Given the description of an element on the screen output the (x, y) to click on. 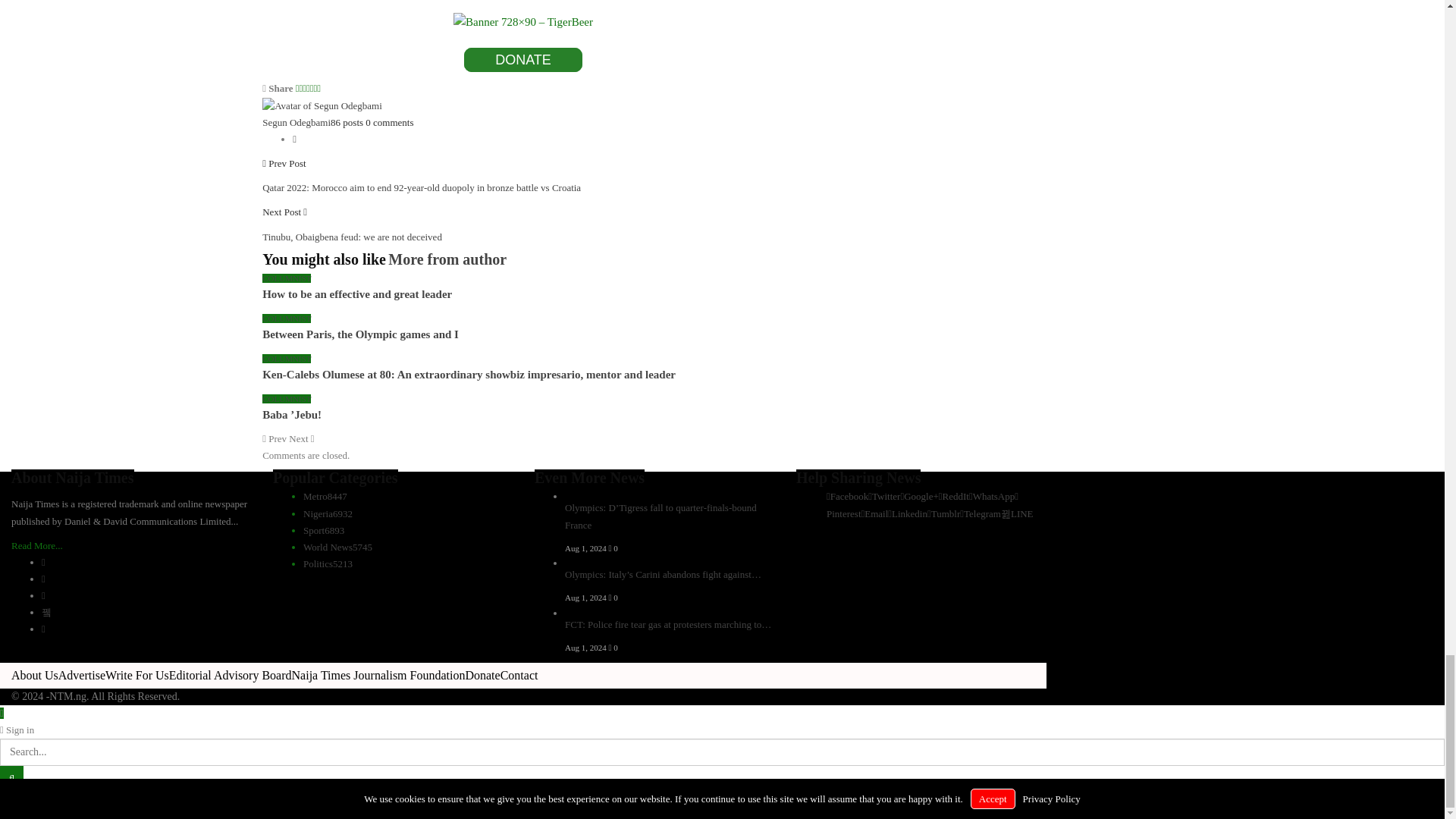
Next (301, 438)
Previous (275, 438)
Between Paris, the Olympic games and I (360, 334)
How to be an effective and great leader (356, 294)
Browse Author Articles (321, 104)
